Given the description of an element on the screen output the (x, y) to click on. 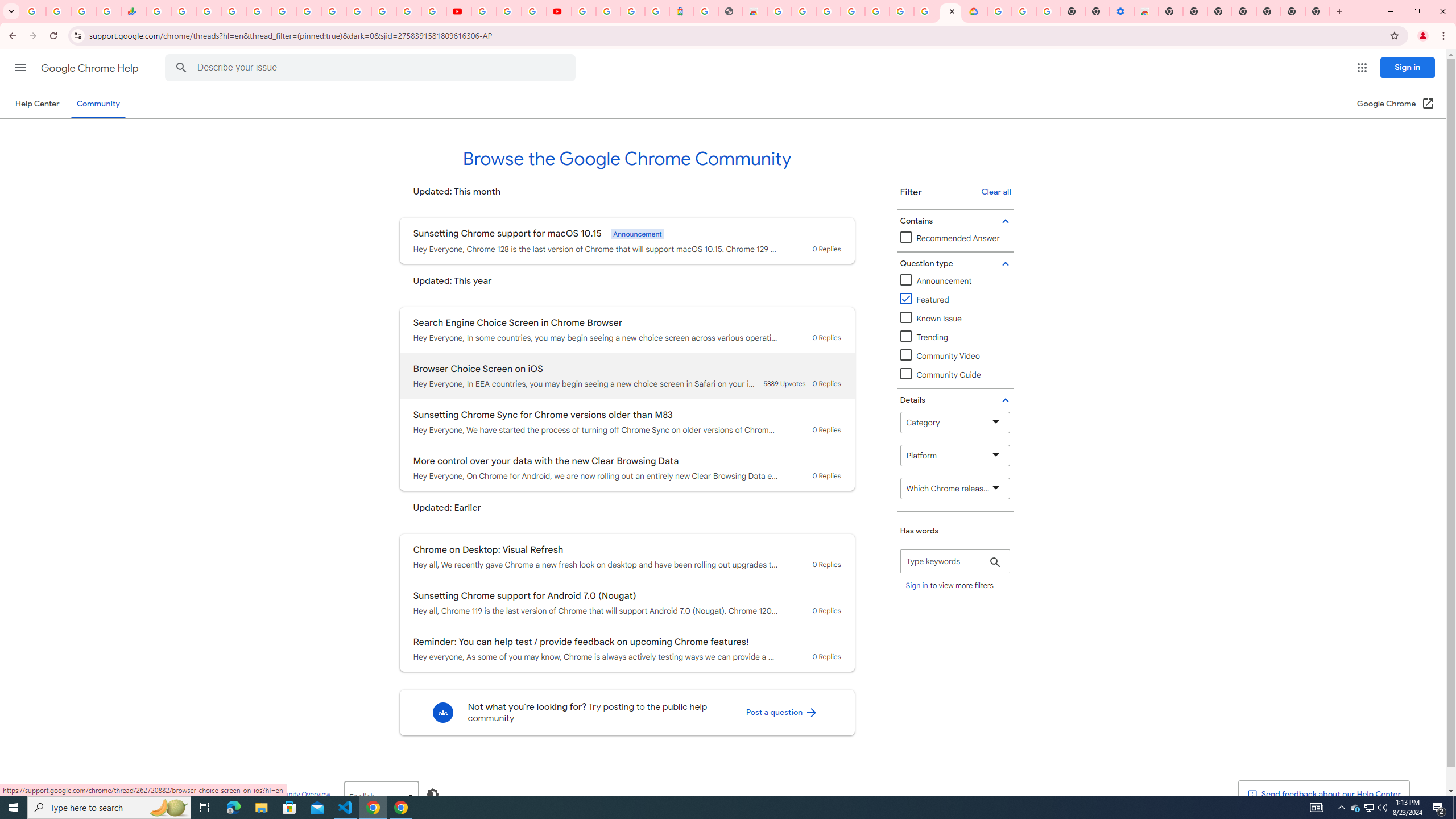
Google Account Help (509, 11)
Content Creator Programs & Opportunities - YouTube Creators (558, 11)
 Details filter group  (953, 400)
 Contains filter group  (953, 220)
Clear all (995, 192)
Trending (924, 337)
Atour Hotel - Google hotels (680, 11)
Recommended Answer (949, 238)
